Given the description of an element on the screen output the (x, y) to click on. 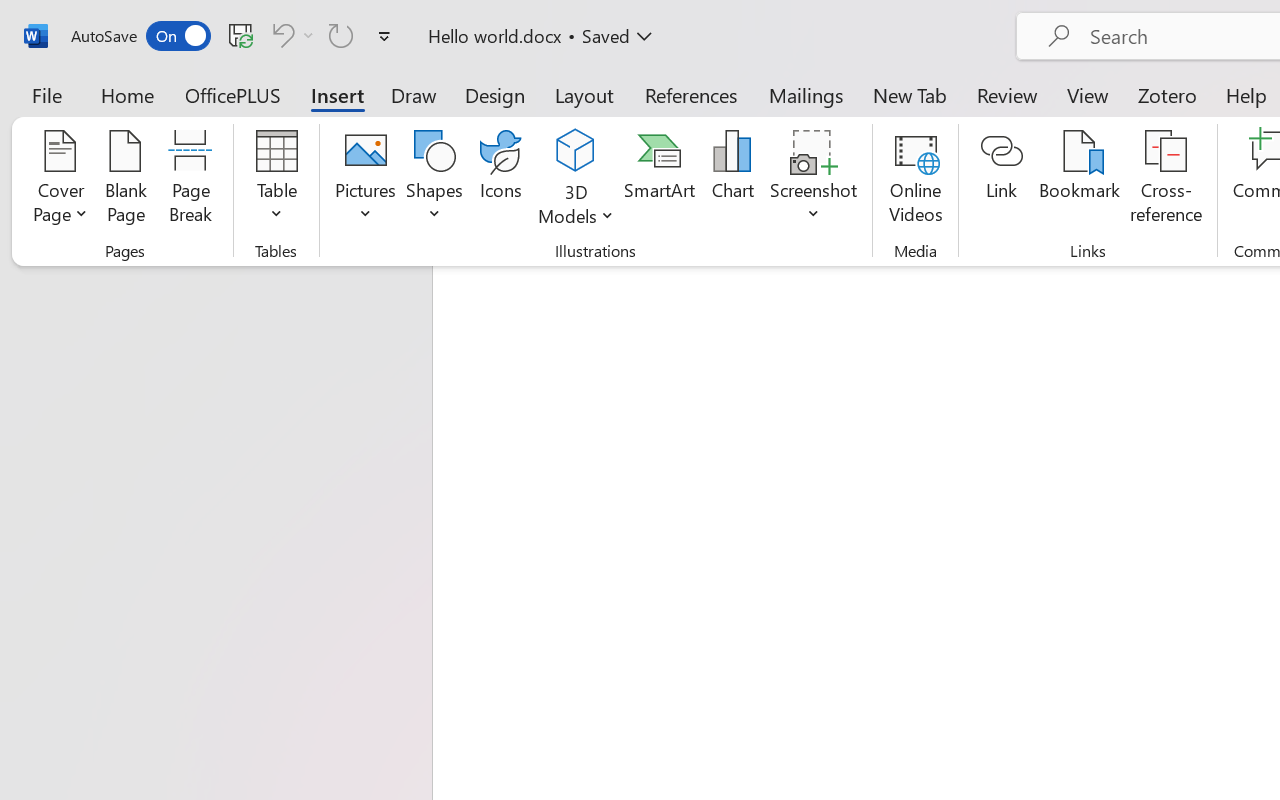
Zotero (1166, 94)
New Tab (909, 94)
File Tab (46, 94)
AutoSave (140, 35)
Design (495, 94)
OfficePLUS (233, 94)
Mailings (806, 94)
More Options (308, 35)
